Given the description of an element on the screen output the (x, y) to click on. 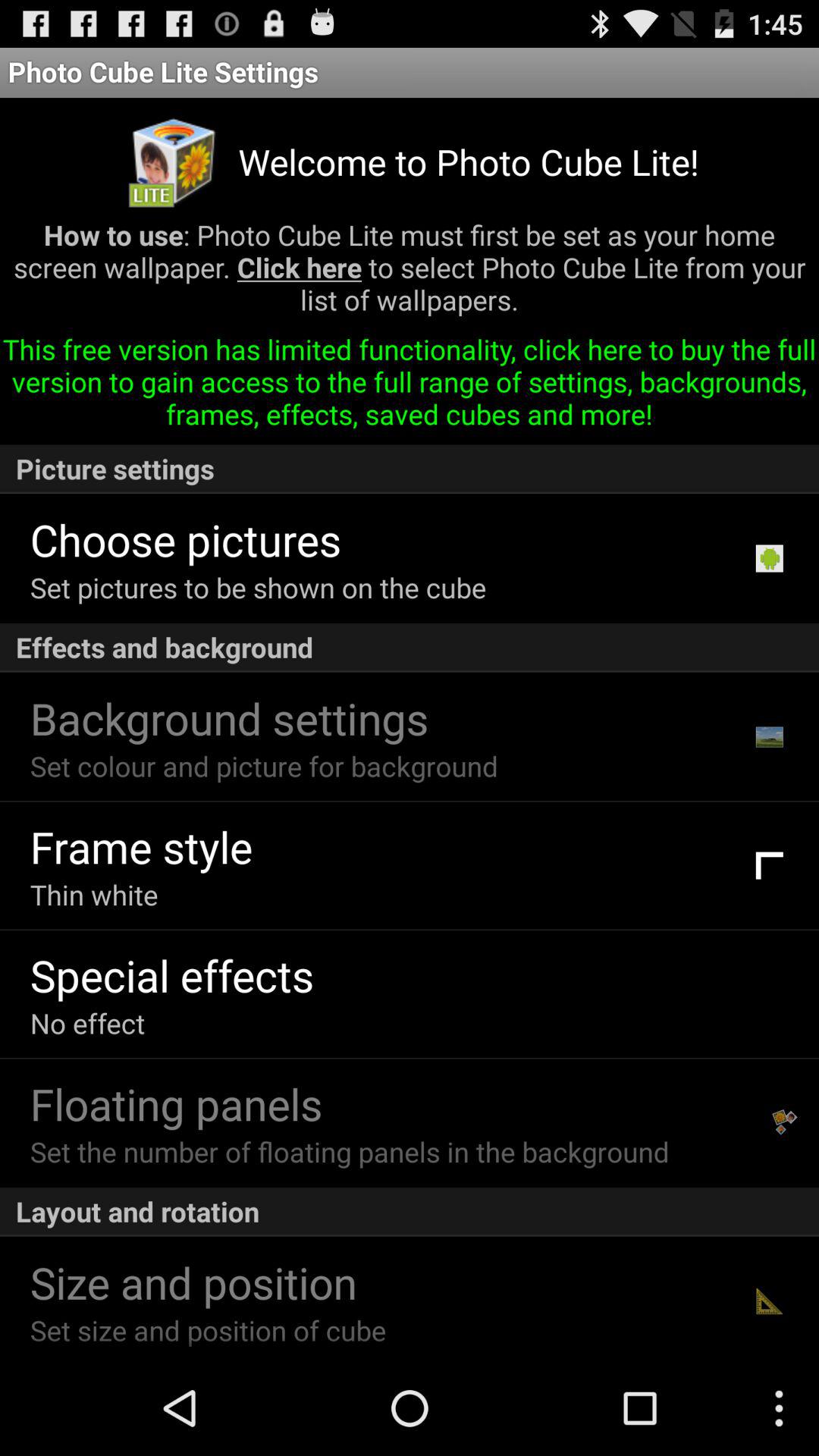
select the item to the right of set the number icon (785, 1122)
